Given the description of an element on the screen output the (x, y) to click on. 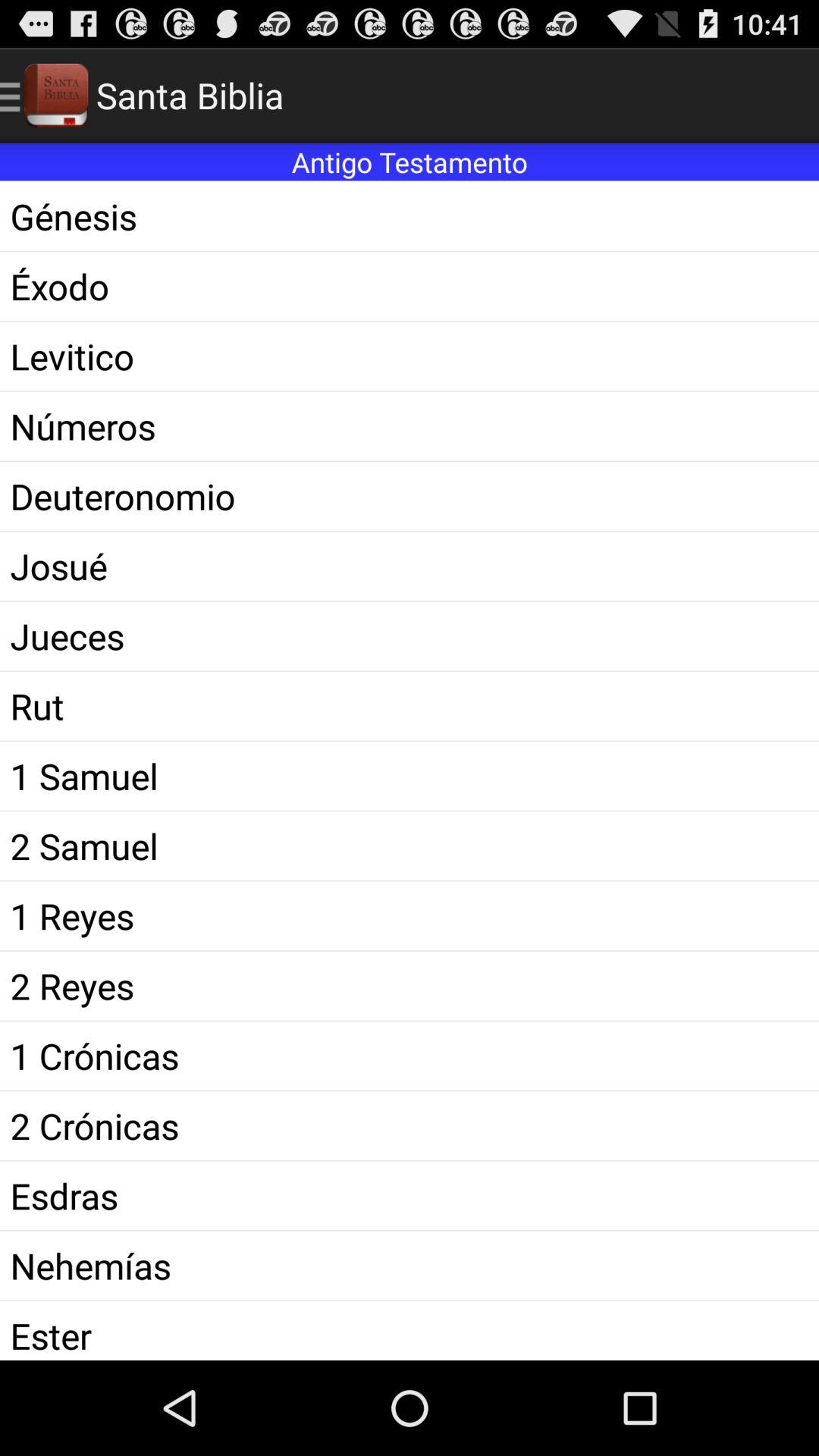
launch the app above the jueces (409, 565)
